Given the description of an element on the screen output the (x, y) to click on. 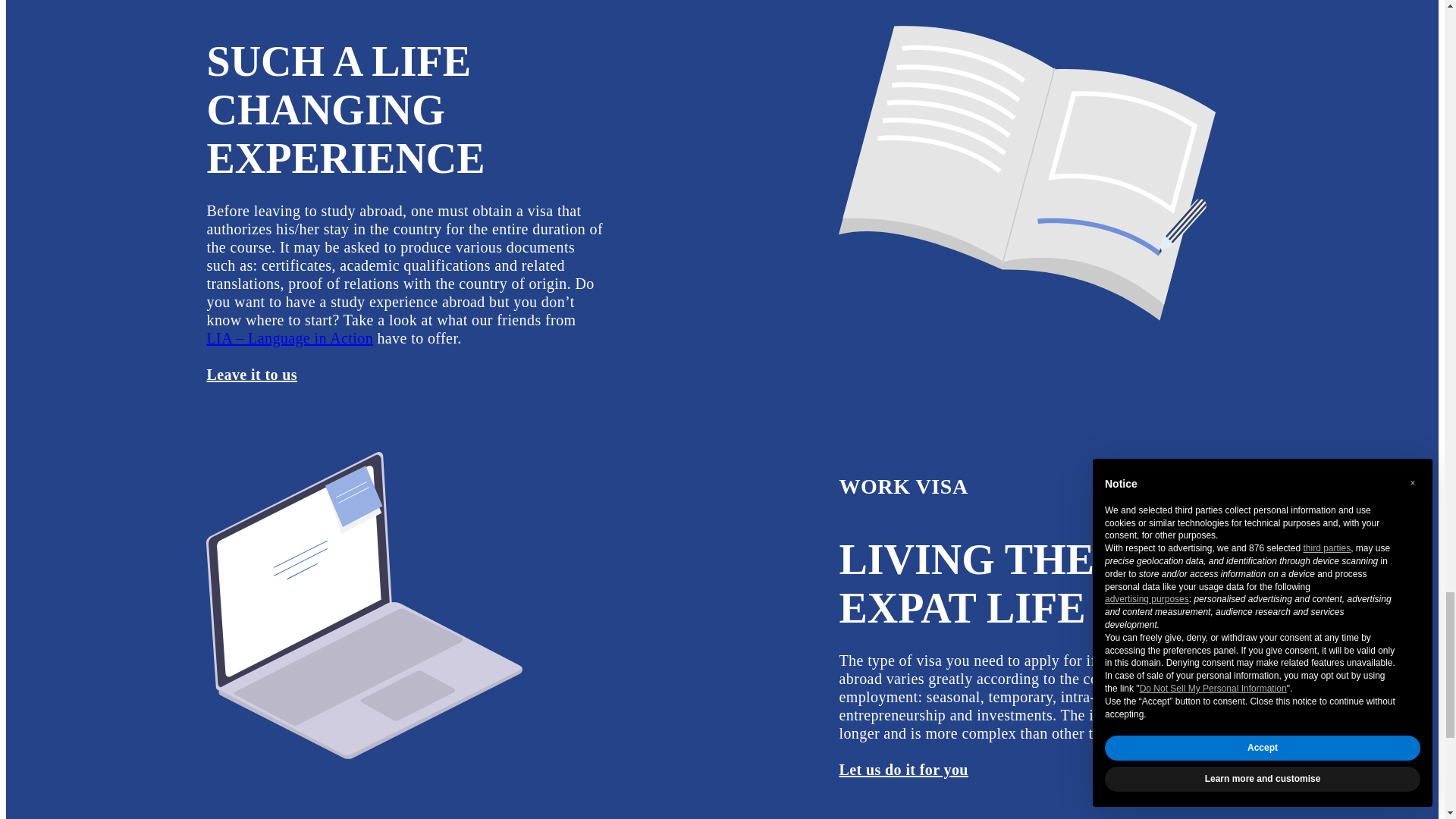
Leave it to us (251, 374)
image intro (1029, 167)
Let us do it for you (903, 769)
image intro (364, 605)
